Given the description of an element on the screen output the (x, y) to click on. 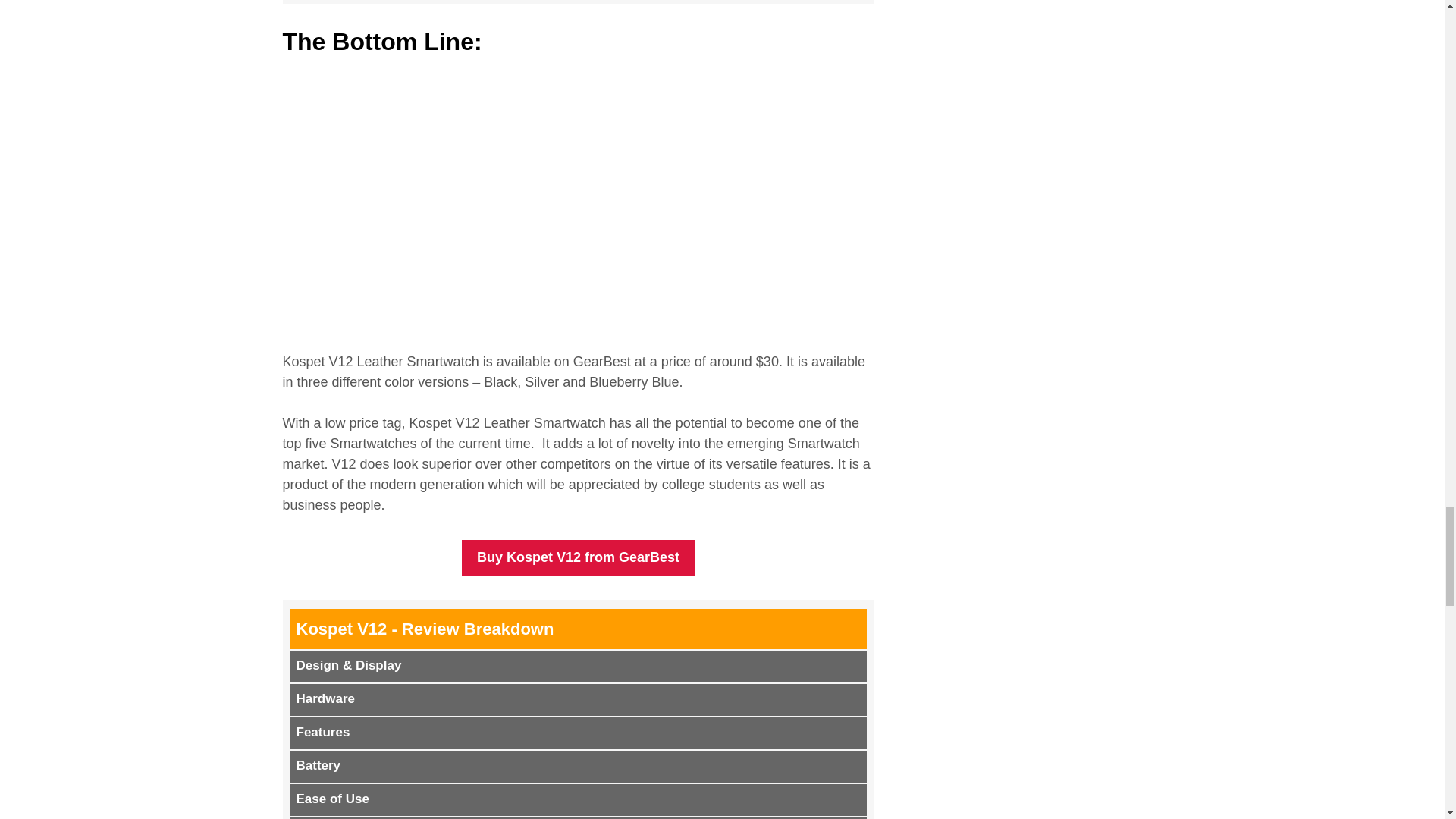
Buy Kospet V12 from GearBest (577, 557)
